Given the description of an element on the screen output the (x, y) to click on. 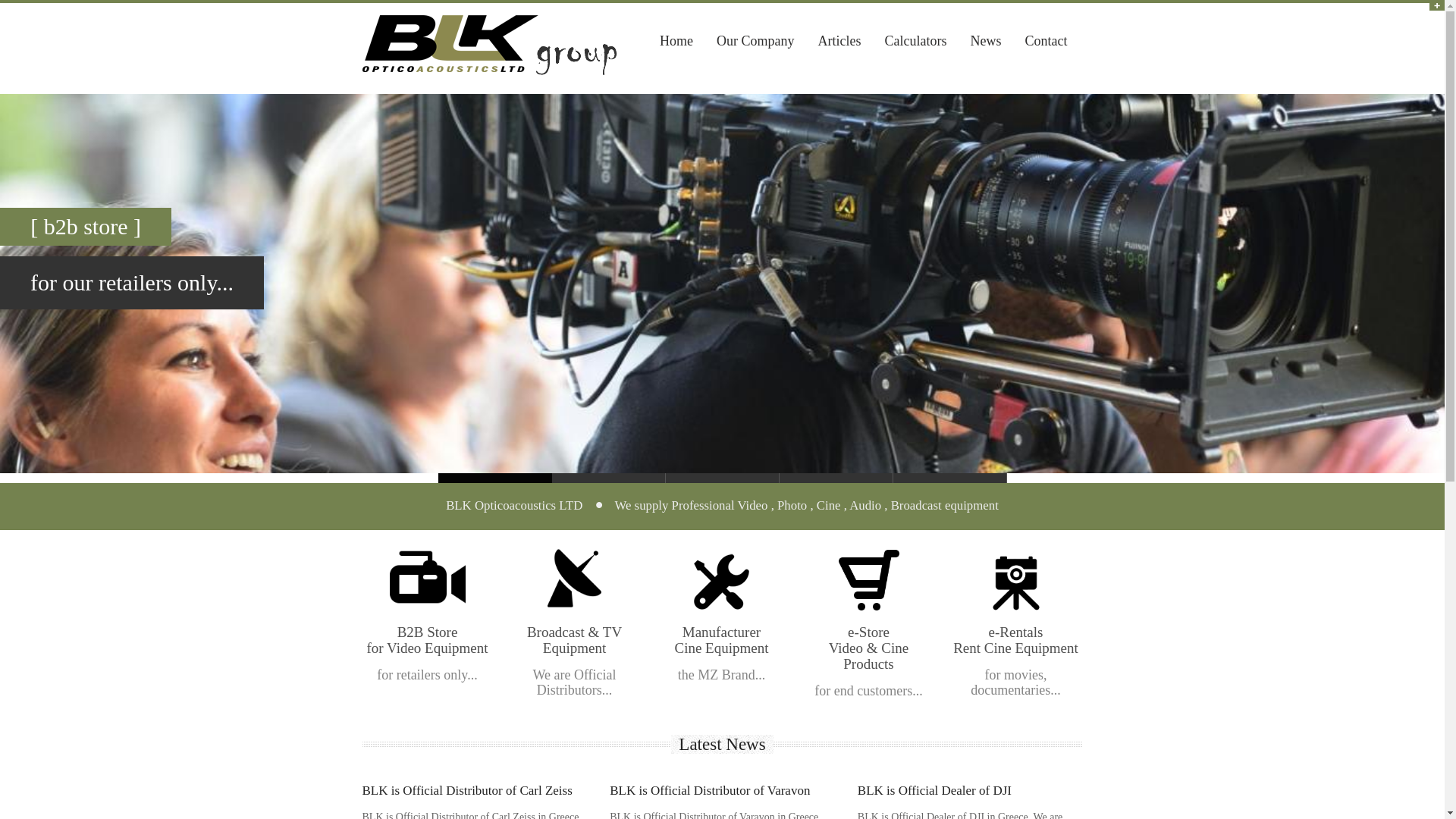
Articles (839, 40)
Slide 1 (950, 478)
Calculators (915, 40)
Slide 1 (835, 478)
Our Company (755, 40)
Slide 1 (494, 478)
for our retailers only... (131, 282)
Slide 1 (721, 478)
Articles (839, 40)
News (984, 40)
